Given the description of an element on the screen output the (x, y) to click on. 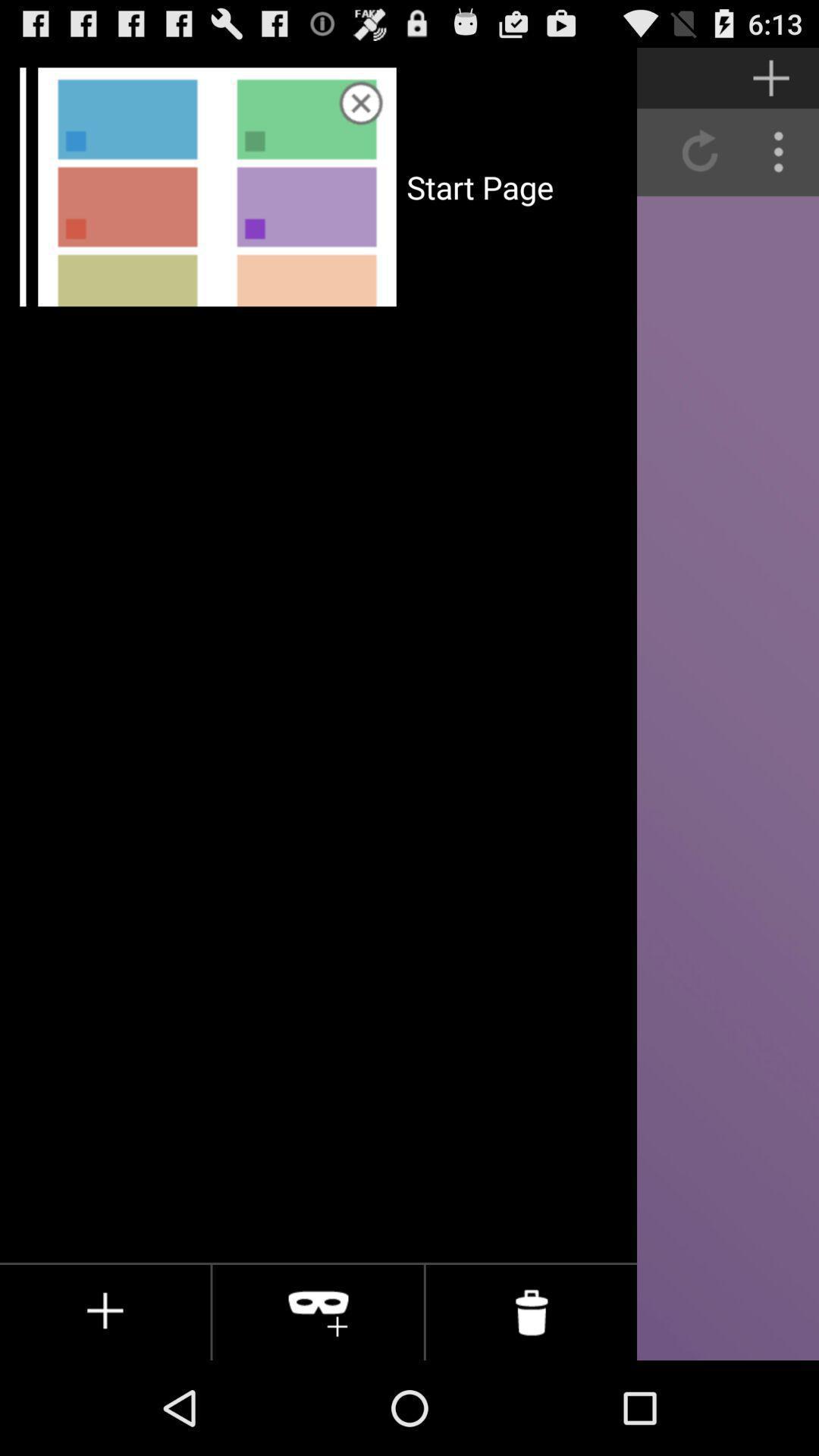
the delete icon shown at the bottom of the page (531, 1312)
click on the icon on the right side of  (318, 1312)
